Given the description of an element on the screen output the (x, y) to click on. 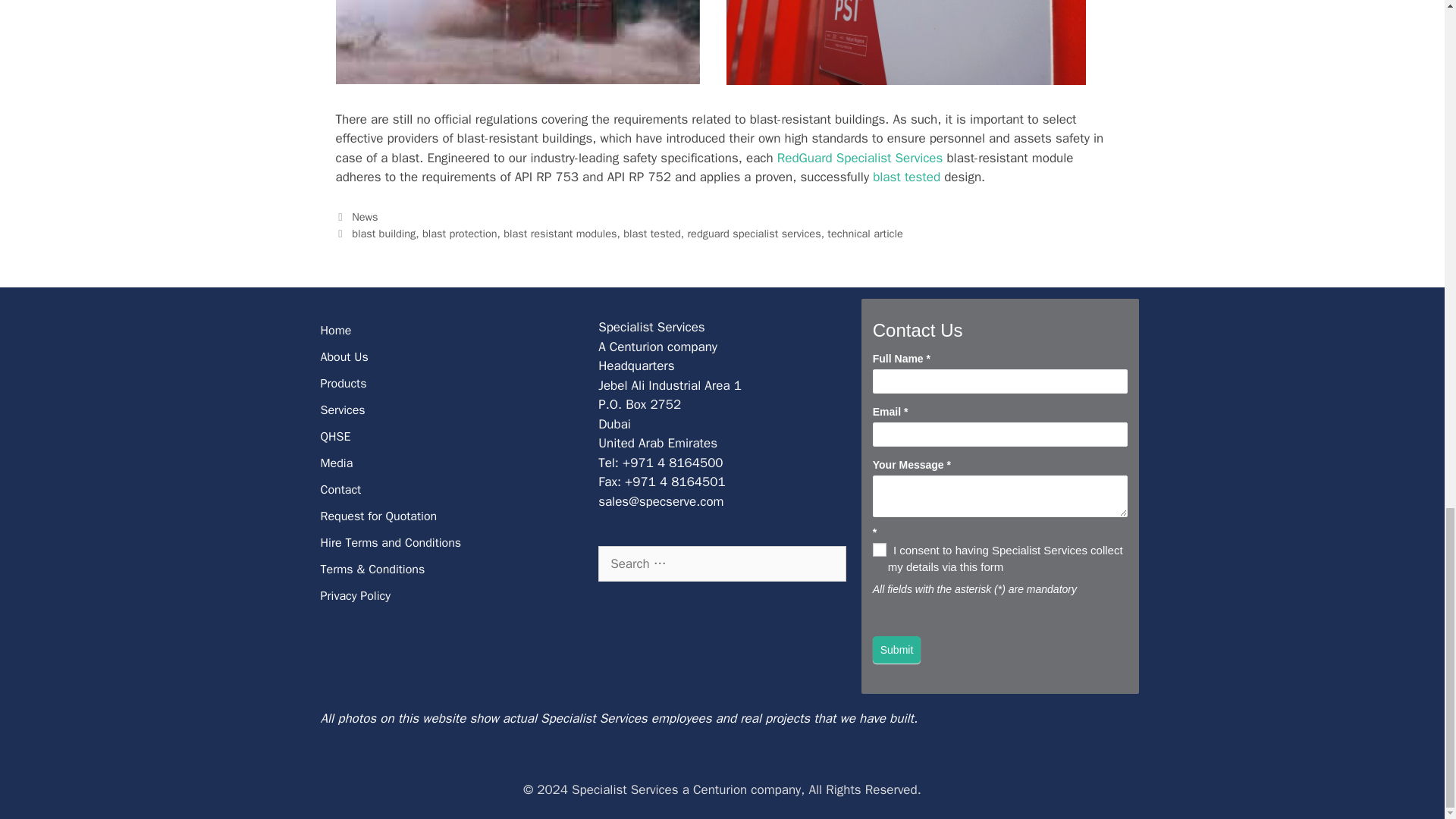
Search for: (721, 564)
Scroll back to top (1406, 179)
I consent (879, 549)
